Given the description of an element on the screen output the (x, y) to click on. 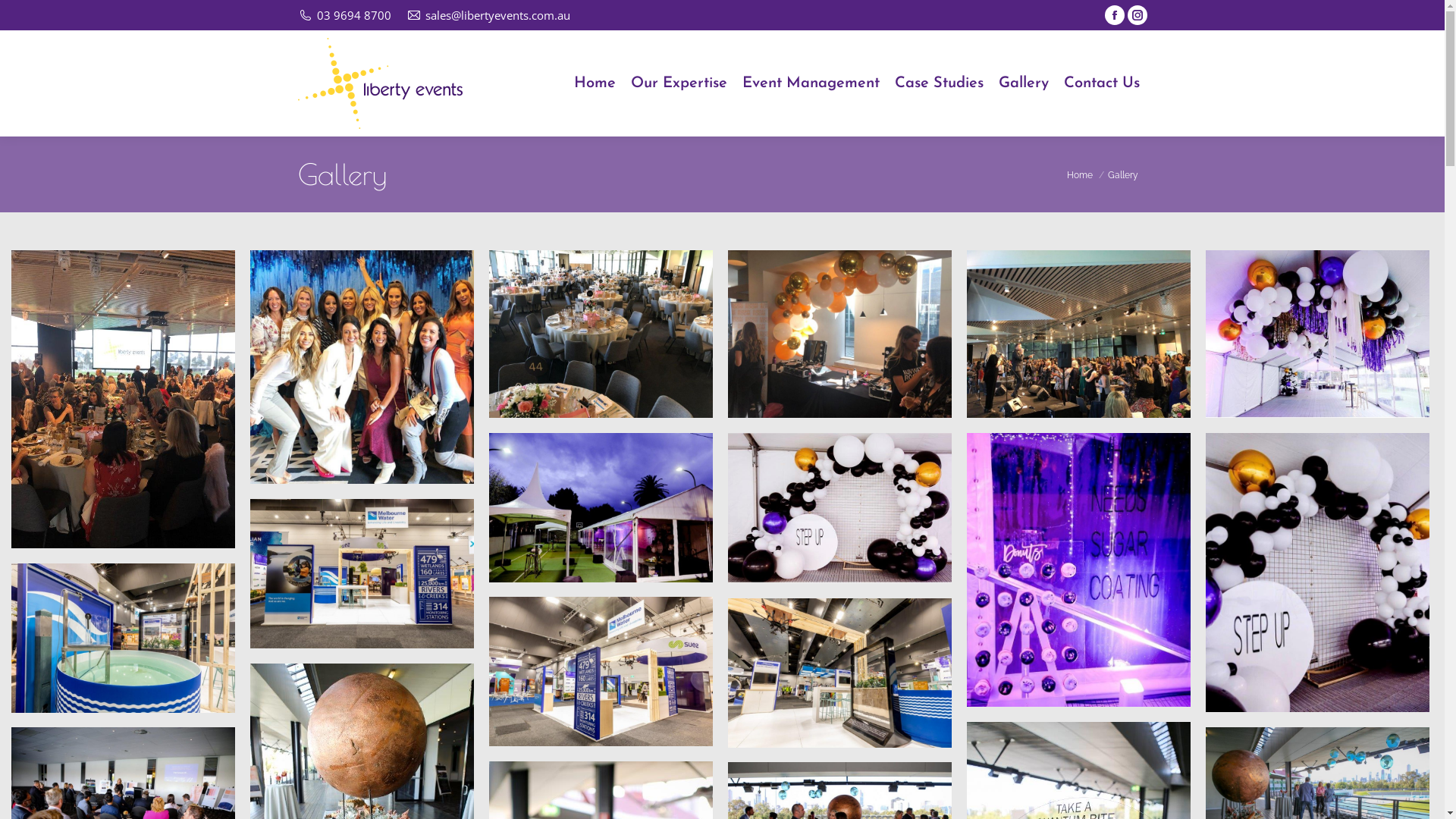
Event Management Element type: text (810, 83)
3.5 IMG_0058 Element type: hover (1077, 569)
1.3 Element type: hover (600, 333)
6. Image-39 Element type: hover (122, 637)
1.9 Element type: hover (1317, 333)
Our Expertise Element type: text (678, 83)
4. IMG_0996 Element type: hover (1317, 572)
1.5 Element type: hover (1077, 333)
Instagram page opens in new window Element type: text (1136, 15)
1.2 Element type: hover (361, 366)
Contact Us Element type: text (1100, 83)
Facebook page opens in new window Element type: text (1113, 15)
8. Image-42 Element type: hover (839, 672)
Gallery Element type: text (1022, 83)
2. IMG_1042 Element type: hover (600, 507)
3. IMG_0992 Element type: hover (839, 508)
7. Image-37 Element type: hover (600, 671)
1.4 Element type: hover (839, 333)
Home Element type: text (593, 83)
Case Studies Element type: text (939, 83)
5. Image-36 Element type: hover (361, 573)
Home Element type: text (1079, 174)
1.1 IMG_3298 Element type: hover (122, 399)
